Given the description of an element on the screen output the (x, y) to click on. 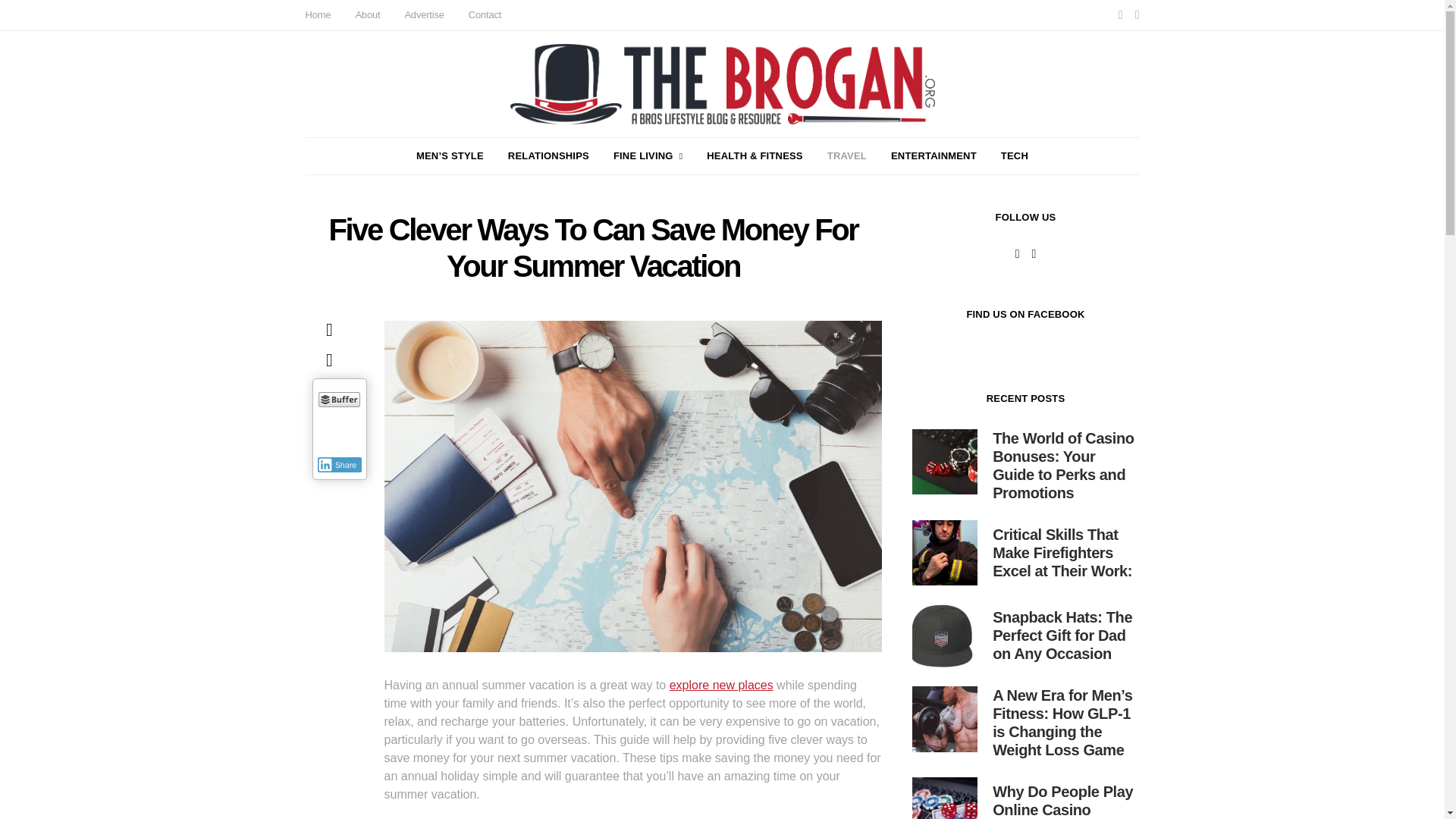
Contact (484, 14)
TECH (1014, 156)
RELATIONSHIPS (548, 156)
Advertise (424, 14)
explore new places (721, 684)
About (367, 14)
ENTERTAINMENT (933, 156)
FINE LIVING (647, 156)
Home (317, 14)
TRAVEL (846, 156)
